Given the description of an element on the screen output the (x, y) to click on. 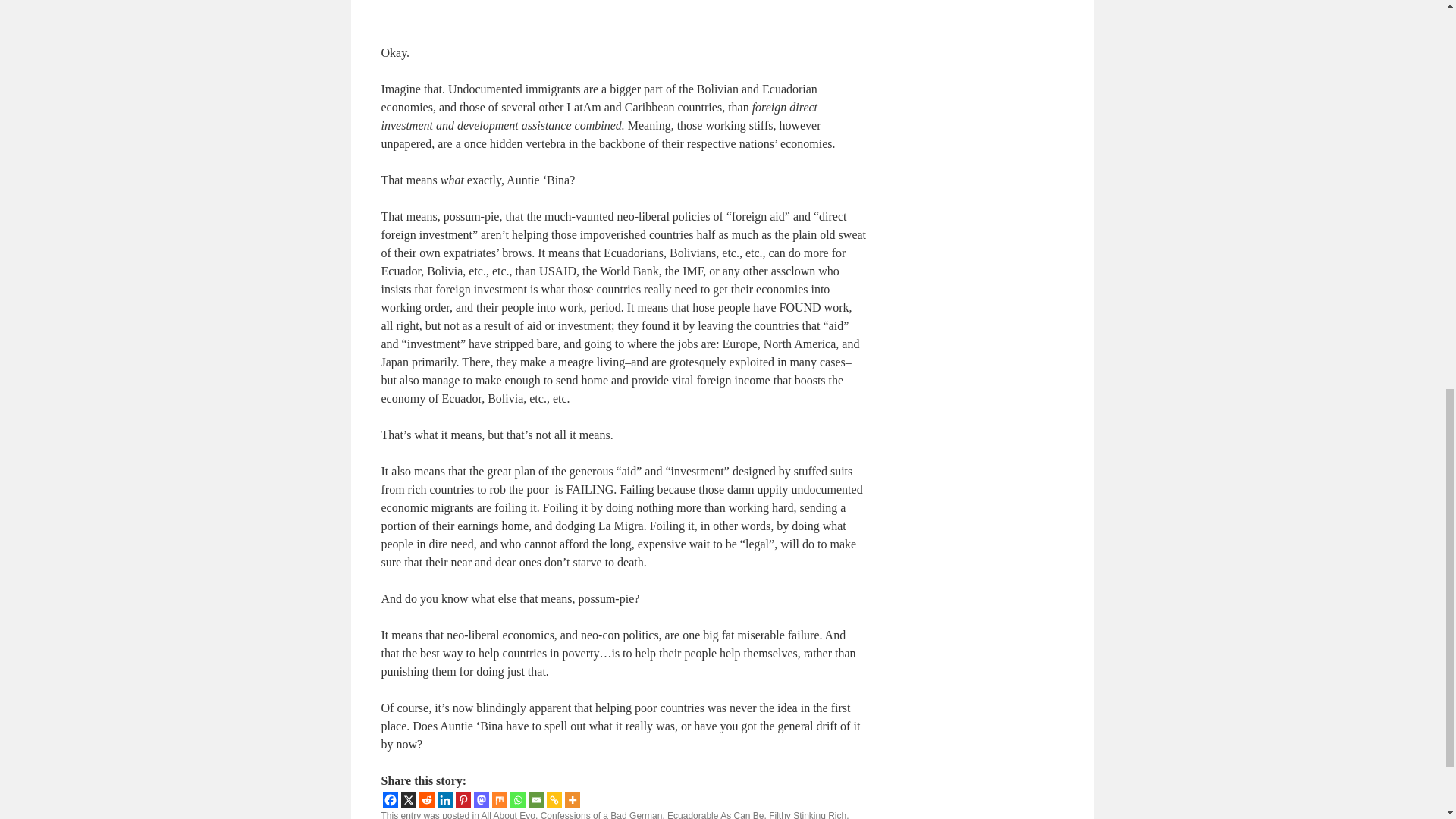
Linkedin (443, 799)
Ecuadorable As Can Be (714, 814)
All About Evo (508, 814)
Copy Link (553, 799)
Mastodon (480, 799)
Whatsapp (516, 799)
More (571, 799)
Reddit (426, 799)
Pinterest (462, 799)
Facebook (389, 799)
